Given the description of an element on the screen output the (x, y) to click on. 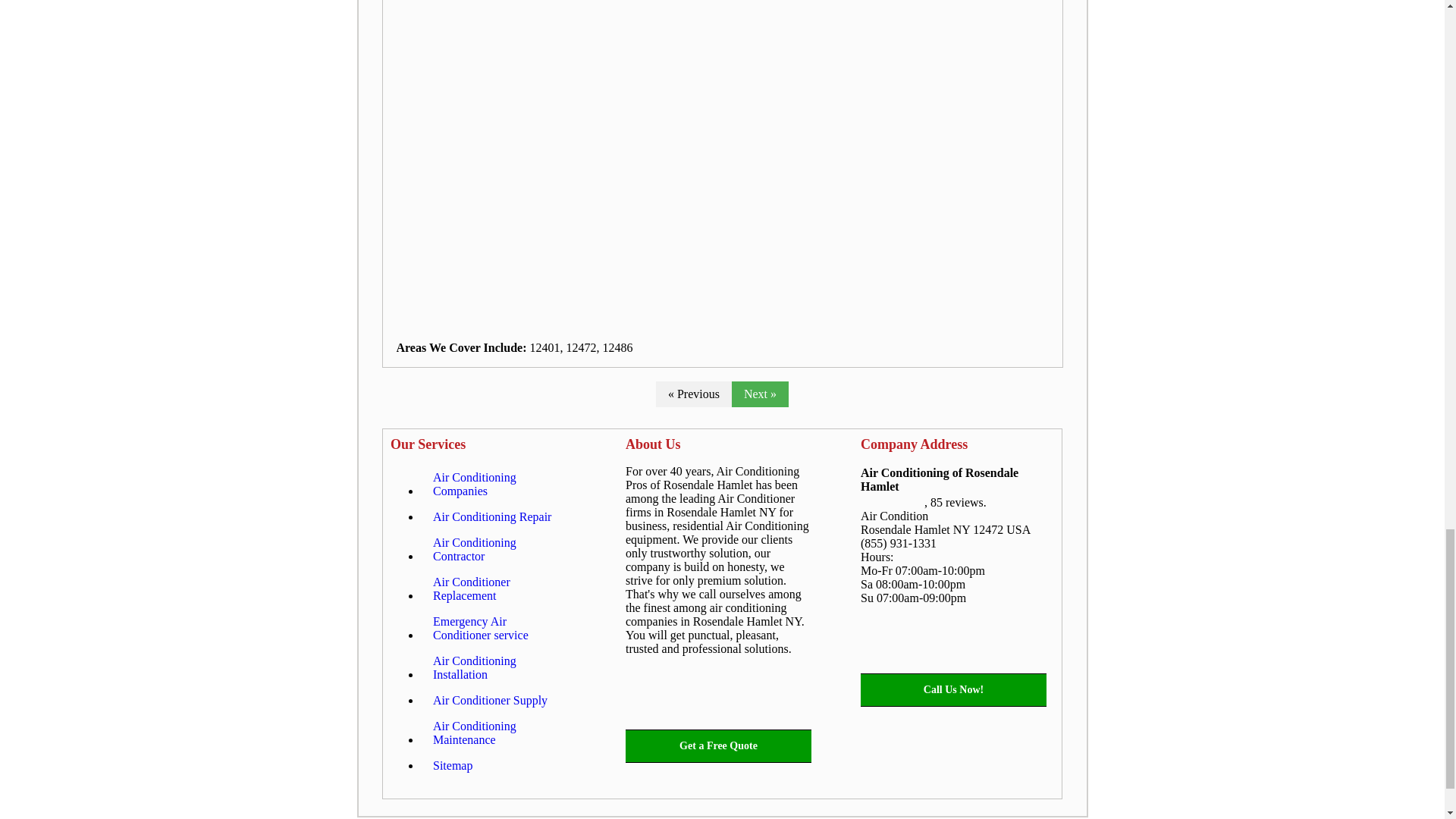
Air Conditioner Replacement (498, 589)
Air Conditioning Companies (498, 484)
Air Conditioning Contractor (498, 549)
Call Us Now! (953, 689)
Air Conditioning Installation (498, 667)
Emergency Air Conditioner service (498, 628)
Get a Free Quote (718, 745)
Air Conditioning Maintenance (498, 732)
Air Conditioning Repair (491, 516)
Air Conditioner Supply (489, 700)
Sitemap (452, 765)
